Given the description of an element on the screen output the (x, y) to click on. 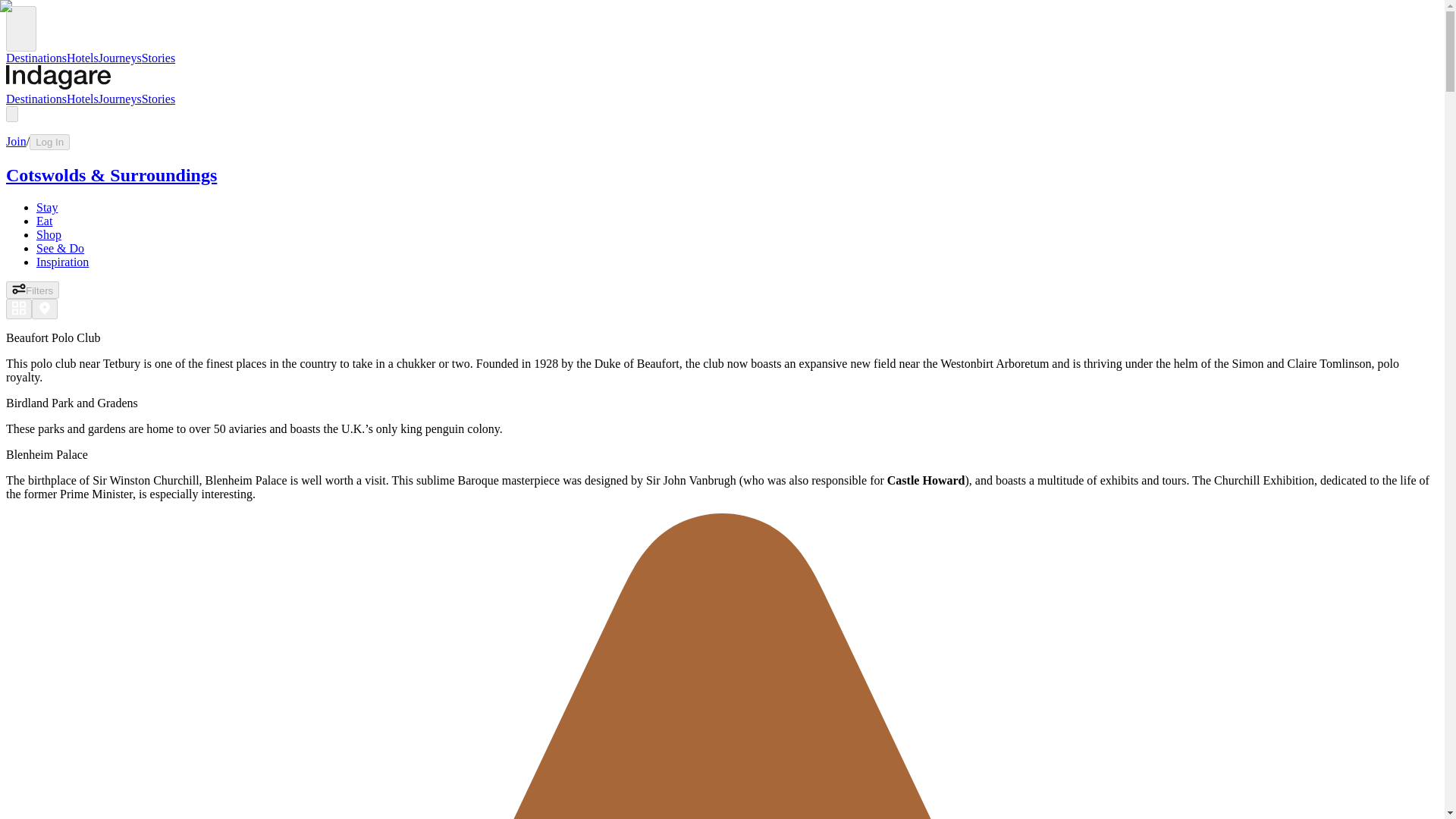
Hotels (82, 98)
Journeys (120, 98)
Journeys (120, 57)
Filters (32, 289)
Log In (49, 141)
Destinations (35, 98)
Join (15, 141)
Stay (47, 206)
Destinations (35, 57)
Hotels (82, 57)
